Given the description of an element on the screen output the (x, y) to click on. 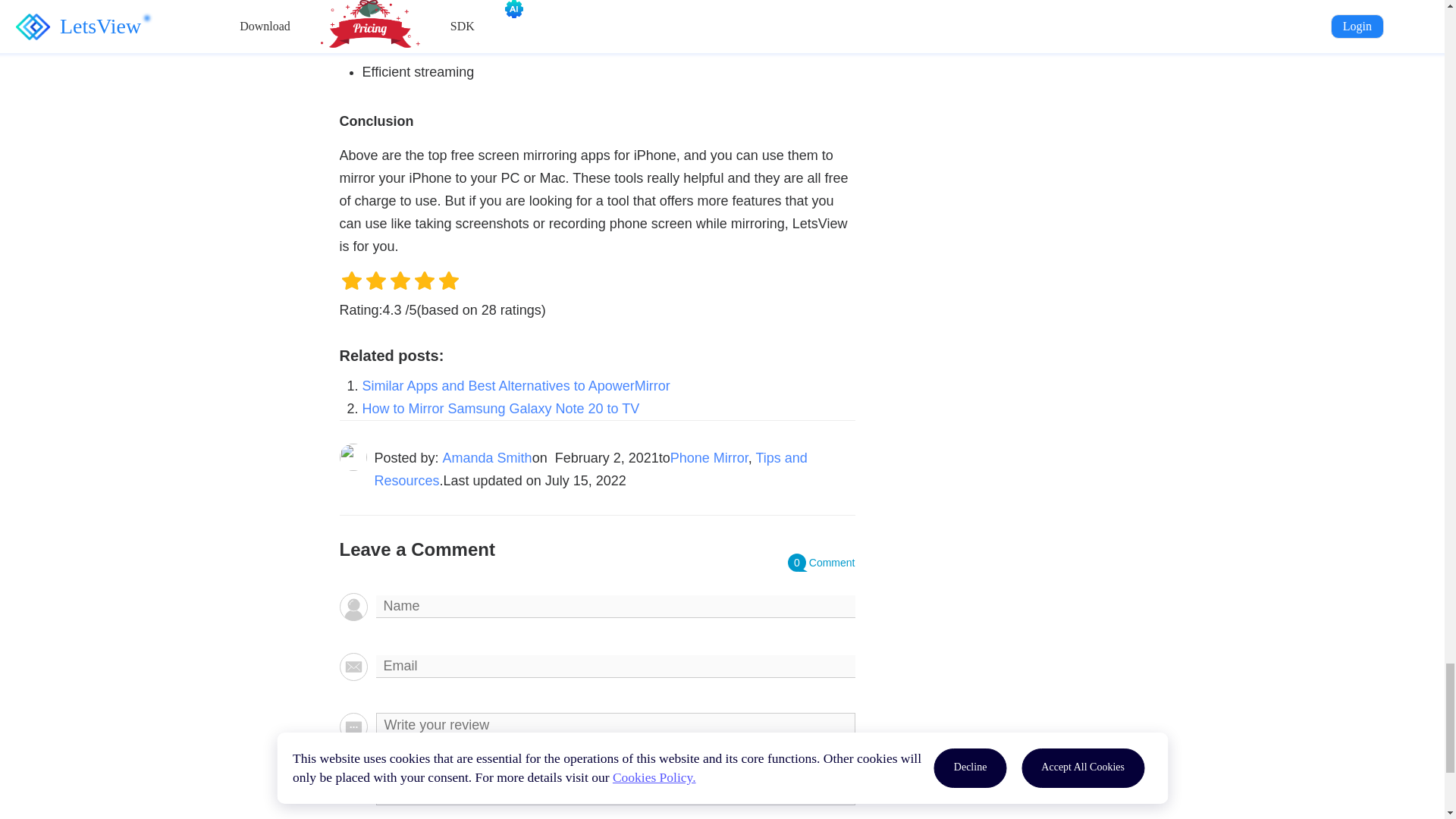
Similar Apps and Best Alternatives to ApowerMirror (515, 385)
Tips and Resources (591, 469)
Similar Apps and Best Alternatives to ApowerMirror (515, 385)
Phone Mirror (708, 458)
0 Comment (821, 562)
Amanda Smith (487, 458)
How to Mirror Samsung Galaxy Note 20 to TV (501, 408)
How to Mirror Samsung Galaxy Note 20 to TV (501, 408)
